Given the description of an element on the screen output the (x, y) to click on. 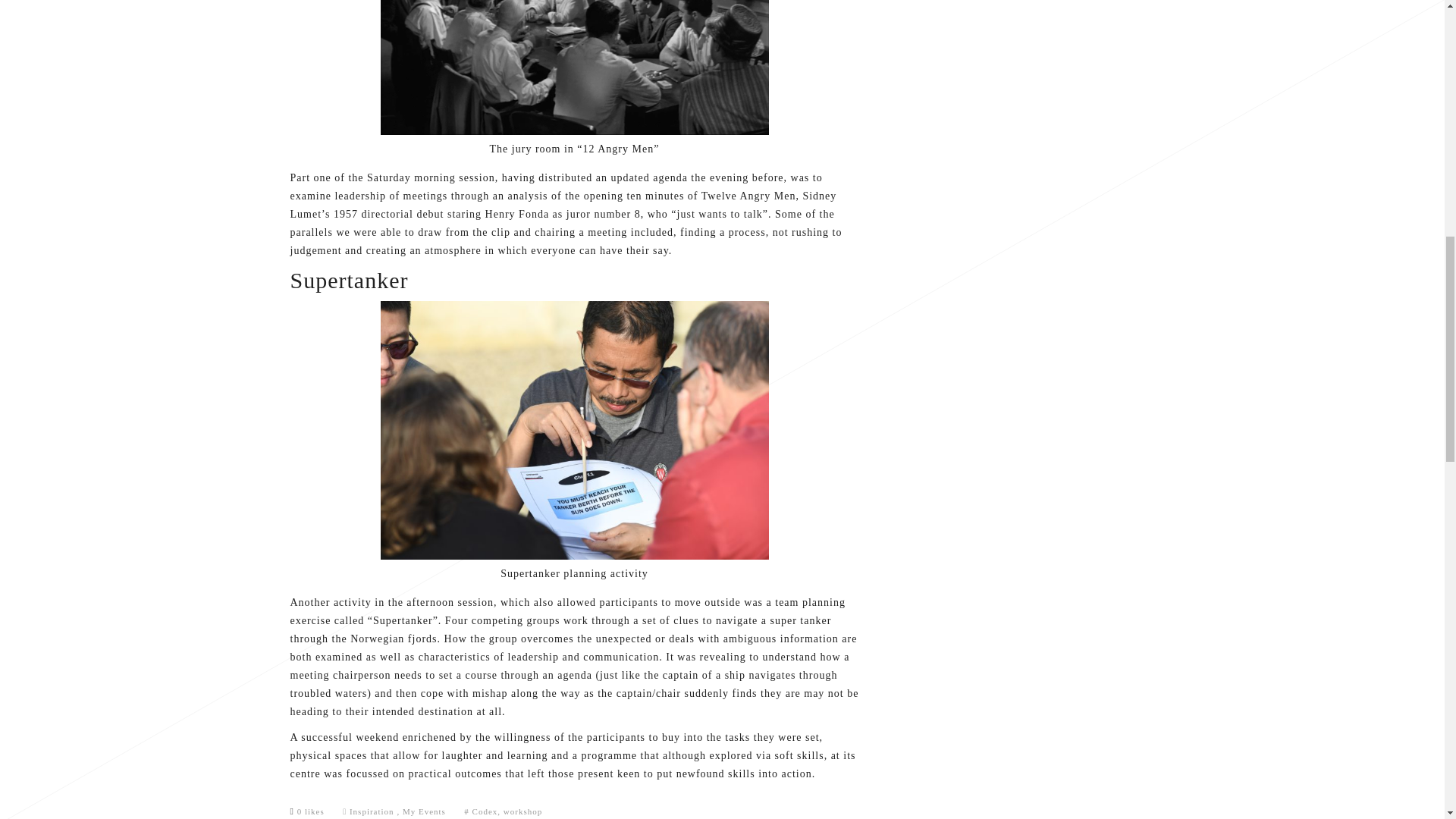
Codex (484, 810)
workshop (522, 810)
Inspiration (371, 810)
My Events (424, 810)
